Given the description of an element on the screen output the (x, y) to click on. 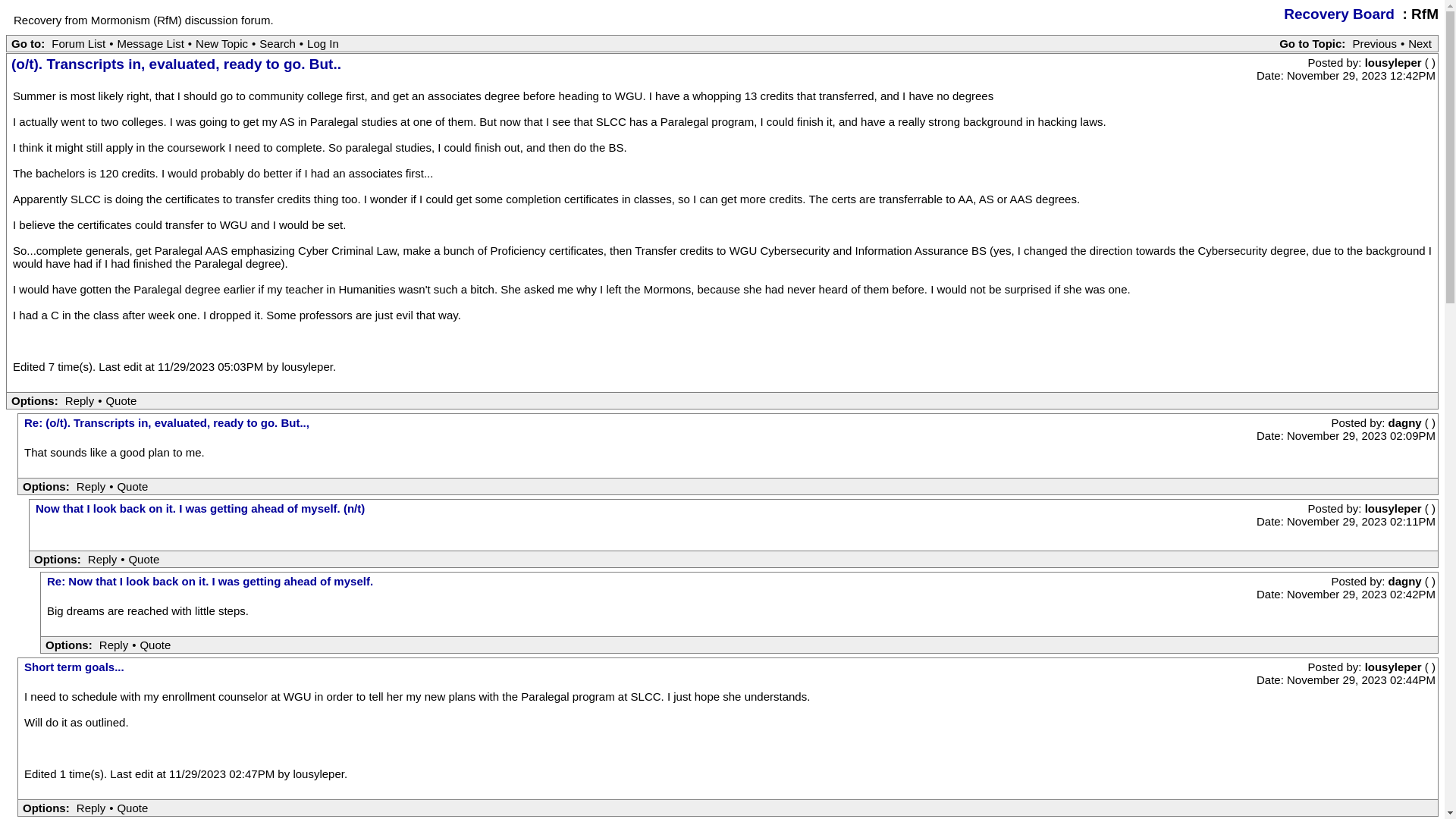
Quote (143, 559)
Reply (90, 807)
Short term goals... (73, 666)
New Topic (221, 43)
Message List (150, 43)
Reply (114, 644)
Quote (132, 486)
Previous (1374, 43)
Search (277, 43)
Recovery Board (1339, 13)
